Given the description of an element on the screen output the (x, y) to click on. 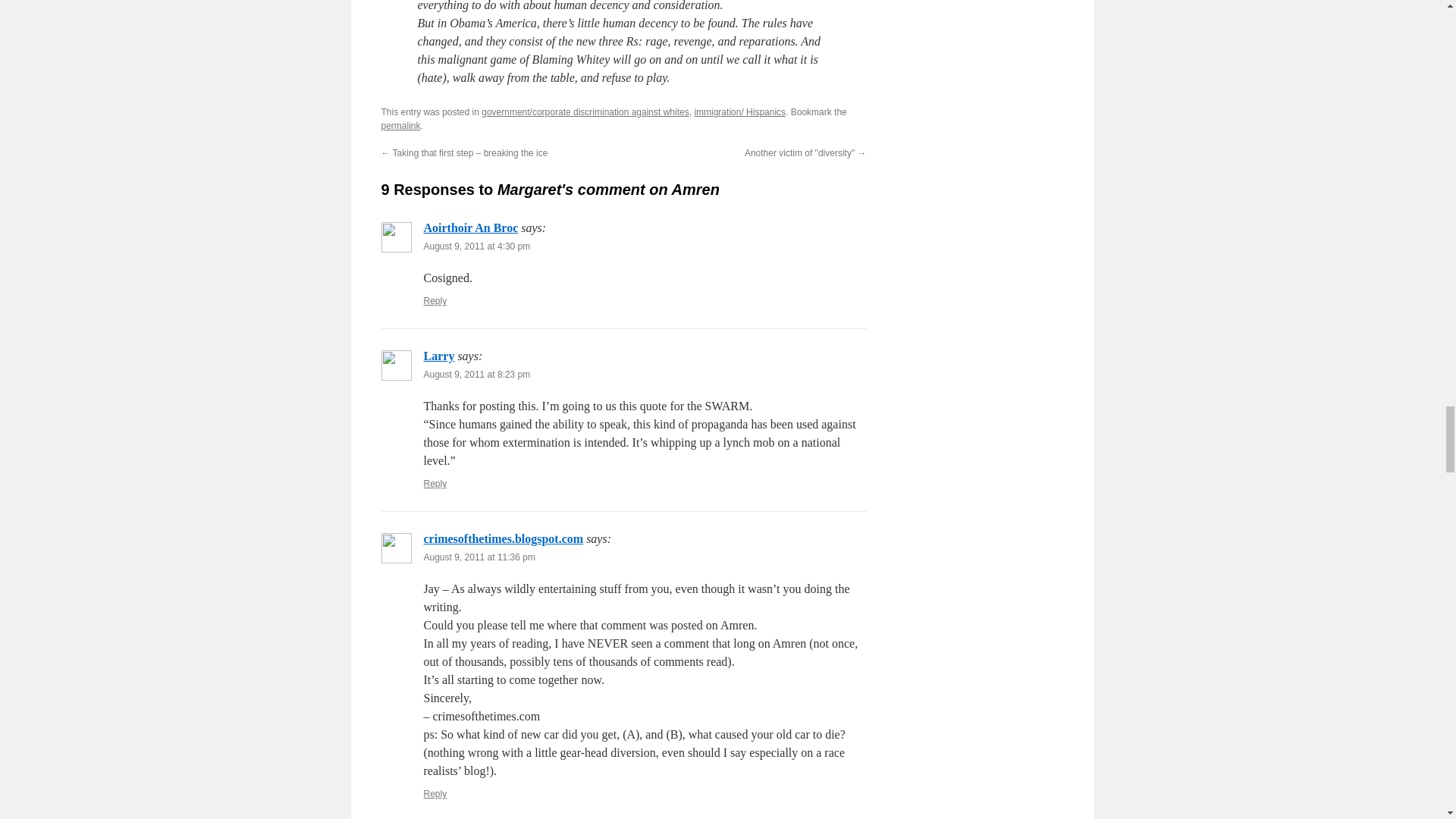
Reply (434, 483)
August 9, 2011 at 4:30 pm (476, 245)
Reply (434, 793)
Aoirthoir An Broc (470, 227)
crimesofthetimes.blogspot.com (503, 538)
Reply (434, 300)
Permalink to Margaret's comment on Amren (400, 125)
permalink (400, 125)
August 9, 2011 at 11:36 pm (478, 557)
Larry (438, 355)
